Given the description of an element on the screen output the (x, y) to click on. 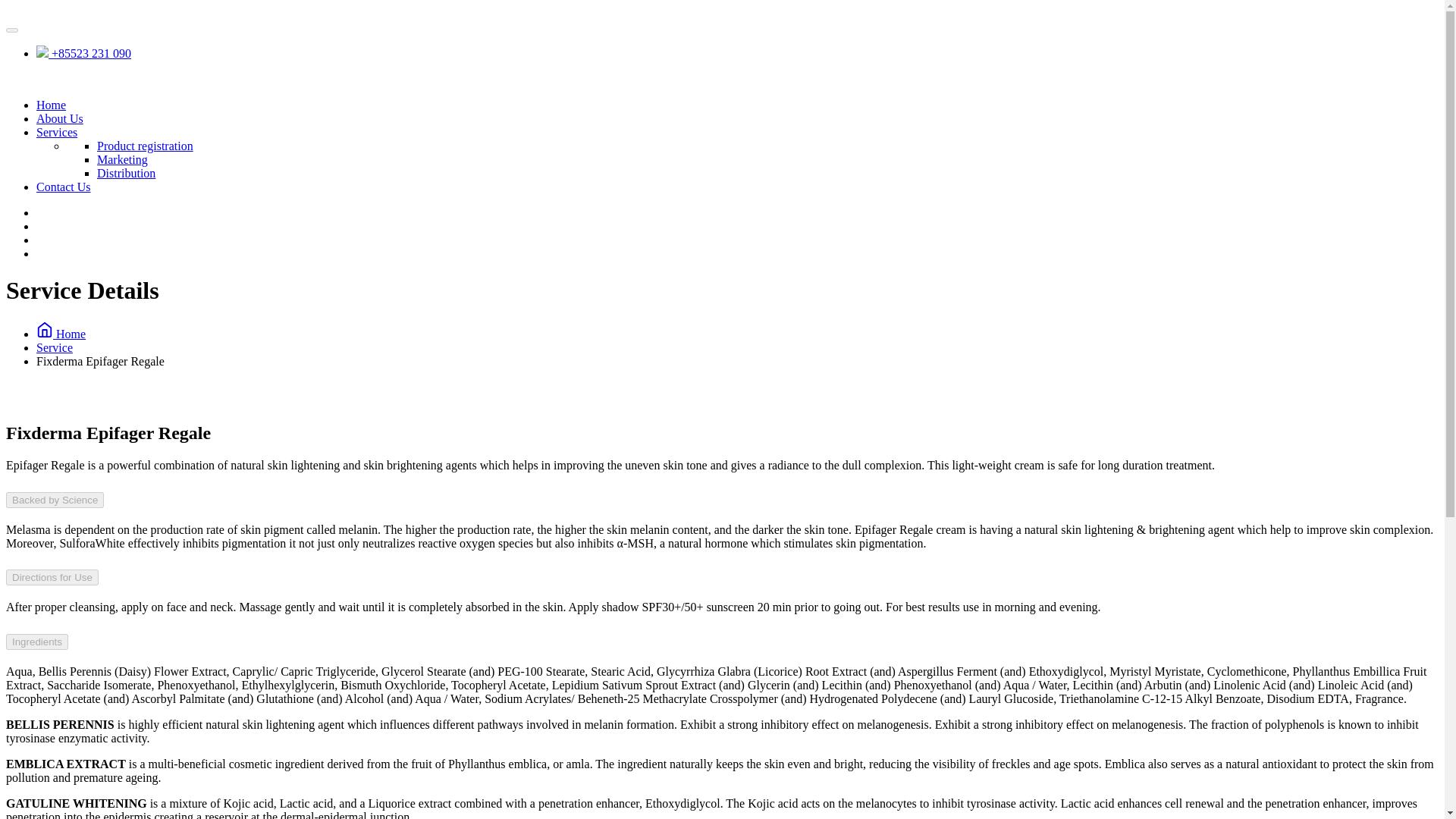
Product registration (145, 145)
Backed by Science (54, 499)
Distribution (126, 173)
Directions for Use (52, 577)
Home (60, 333)
About Us (59, 118)
Services (56, 132)
Contact Us (63, 186)
Ingredients (36, 641)
Home (50, 104)
Service (54, 347)
Marketing (122, 159)
